Given the description of an element on the screen output the (x, y) to click on. 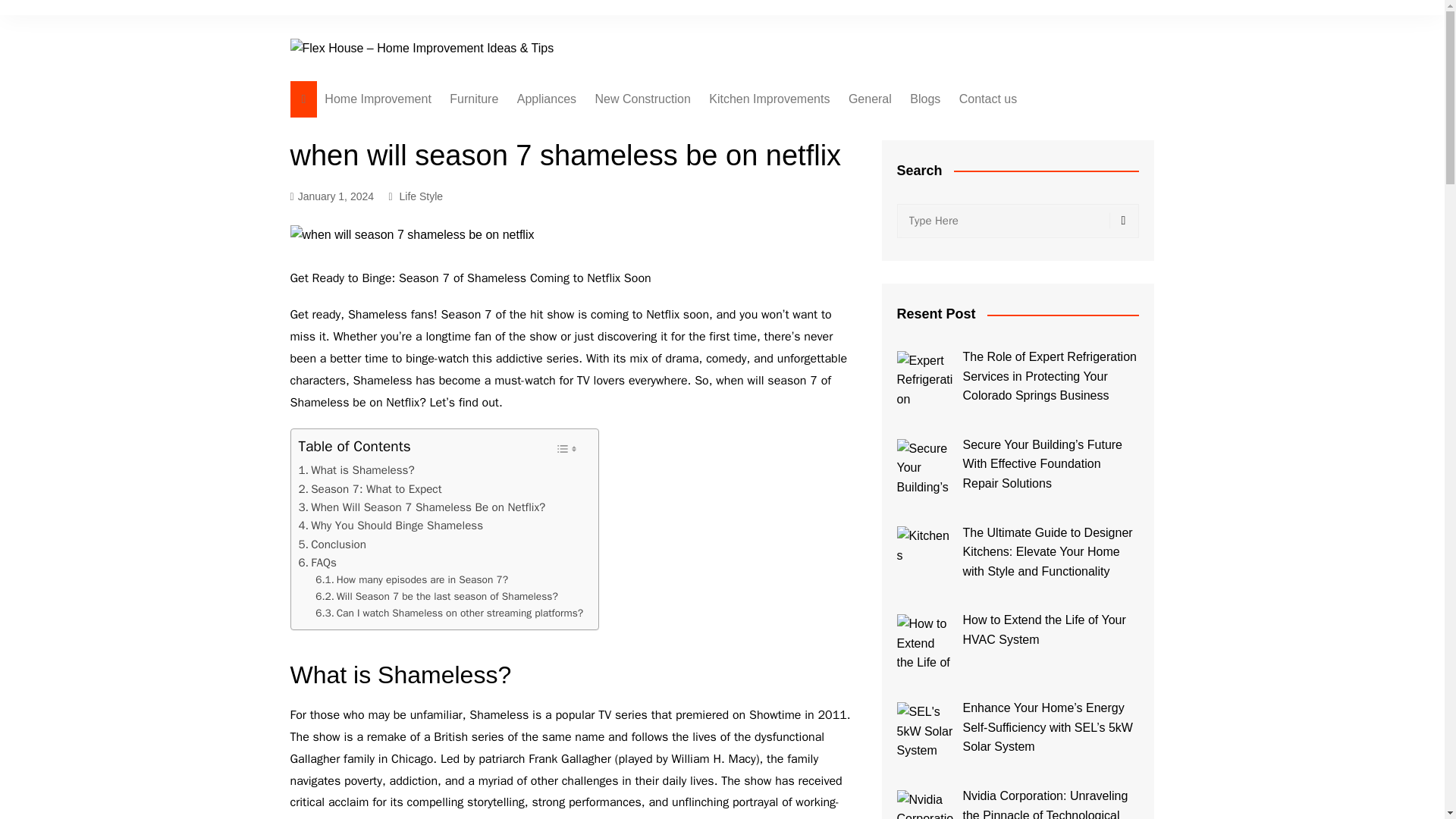
Season 7: What to Expect (370, 488)
Write for US (1035, 129)
General (870, 99)
Expert Refrigeration Services (924, 379)
Home Security (593, 217)
New Construction (643, 99)
Appliances (546, 99)
Real Estate Business (671, 242)
Interior Design and Decorating (525, 136)
Garage (671, 192)
